Given the description of an element on the screen output the (x, y) to click on. 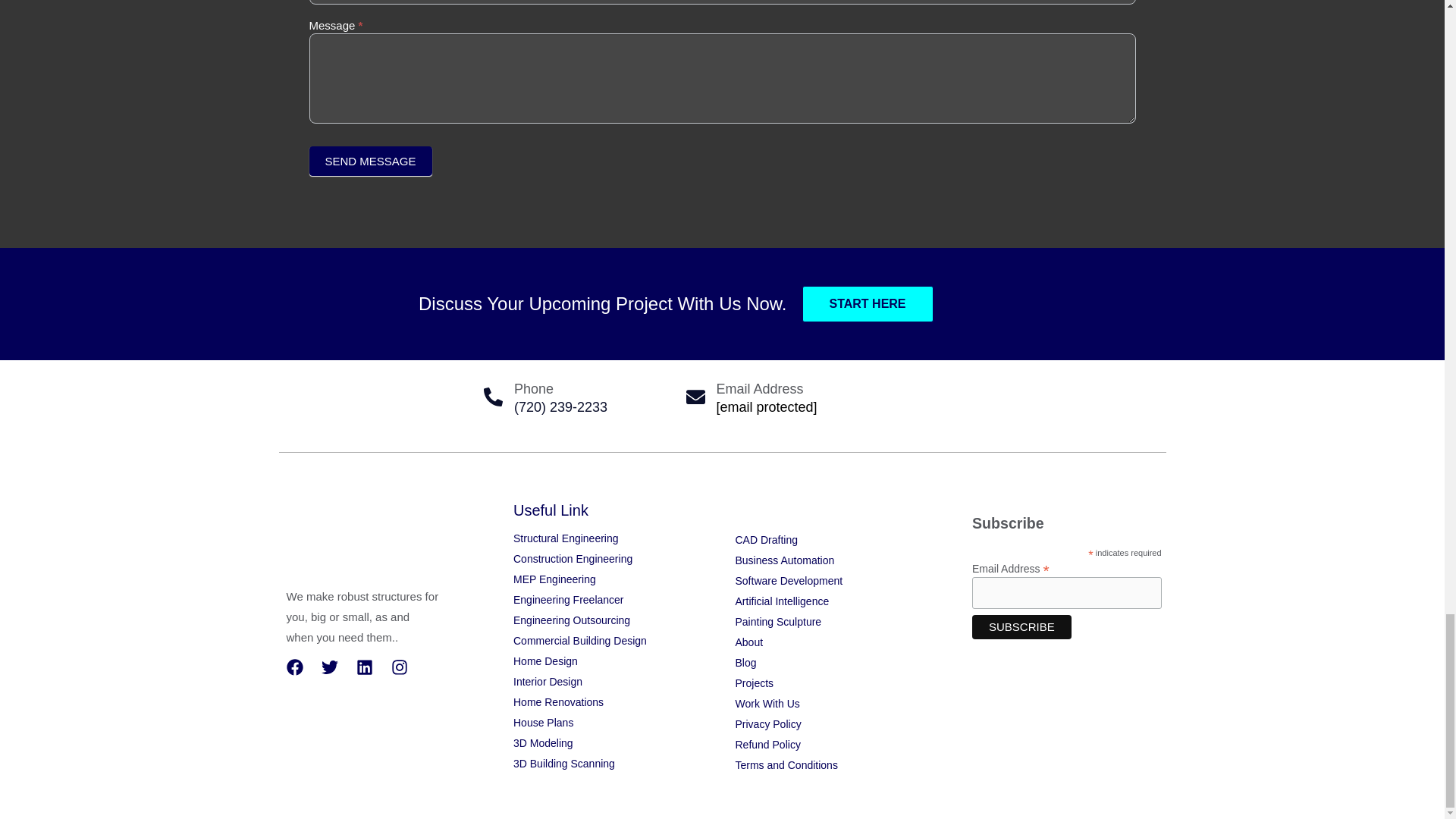
Subscribe (1021, 627)
